Given the description of an element on the screen output the (x, y) to click on. 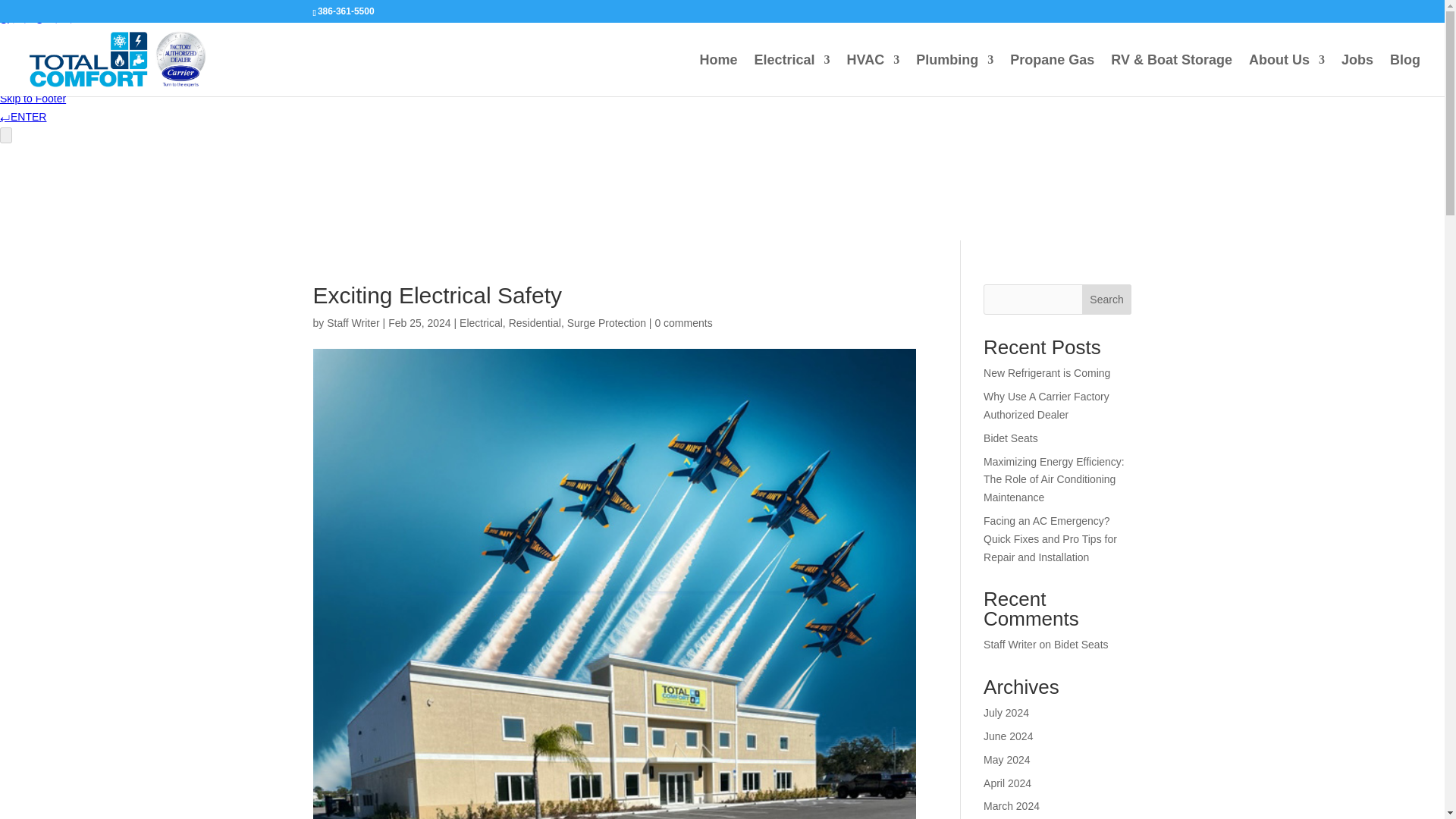
Home (717, 75)
About Us (1286, 75)
Propane Gas (1052, 75)
Posts by Staff Writer (353, 322)
HVAC (873, 75)
Electrical (791, 75)
Plumbing (953, 75)
